Given the description of an element on the screen output the (x, y) to click on. 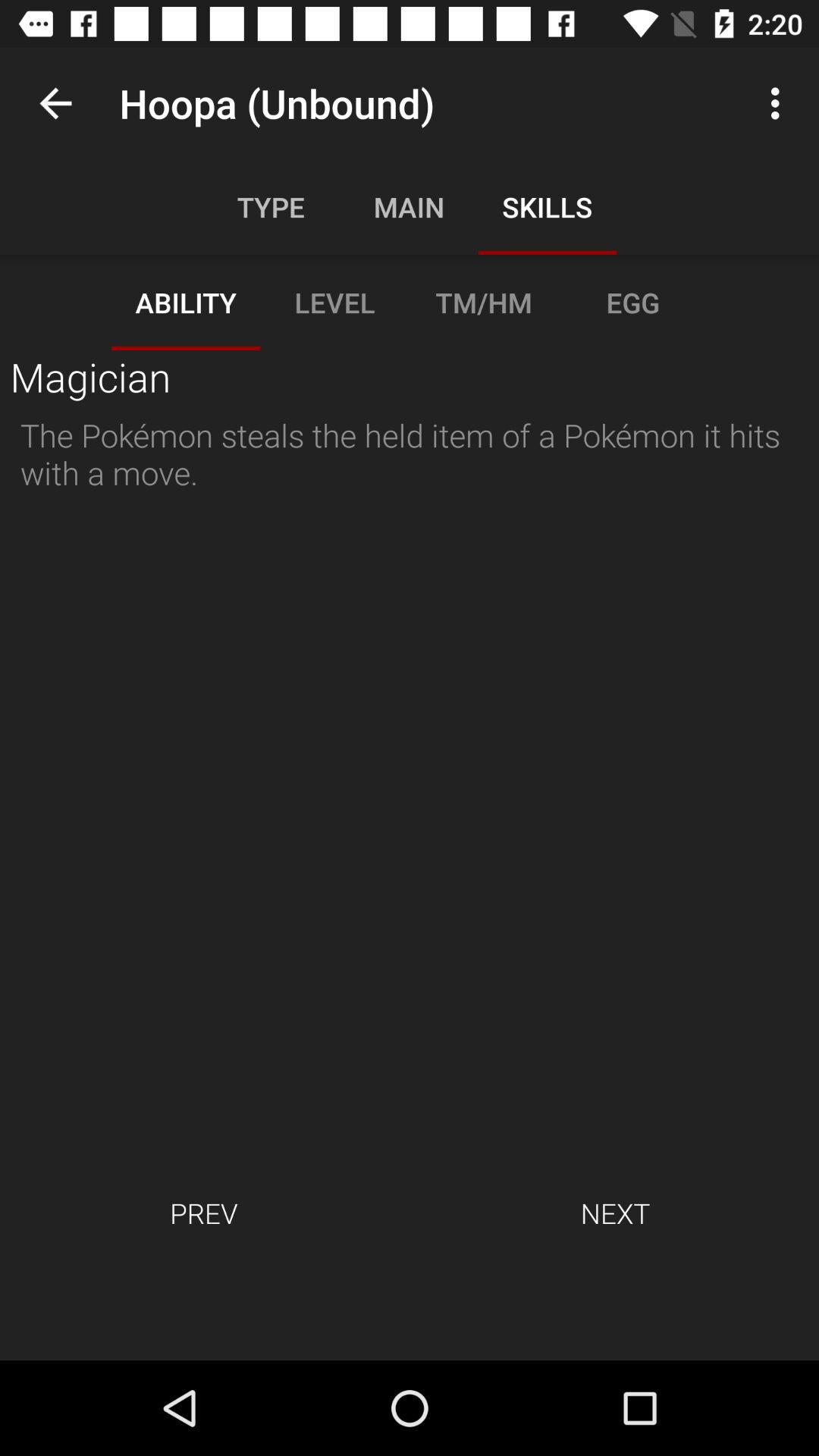
open prev (203, 1212)
